Given the description of an element on the screen output the (x, y) to click on. 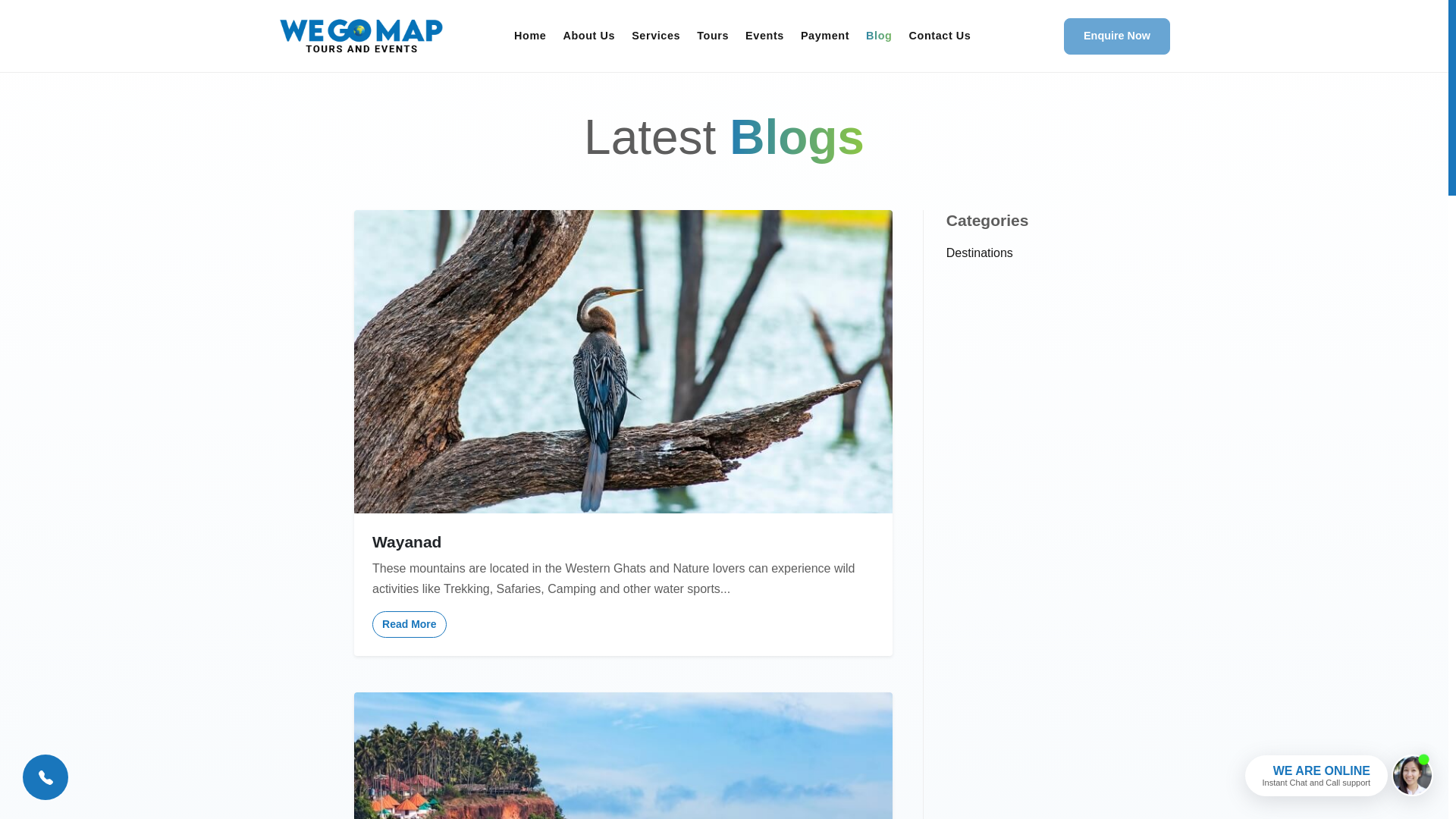
Enquire Now (1117, 36)
Payment (824, 36)
About Us (588, 36)
Wayanad (623, 541)
Tours (712, 36)
Events (764, 36)
Blog (878, 36)
Read More (409, 624)
Contact Us (940, 36)
Home (529, 36)
Destinations (979, 252)
Services (655, 36)
